Given the description of an element on the screen output the (x, y) to click on. 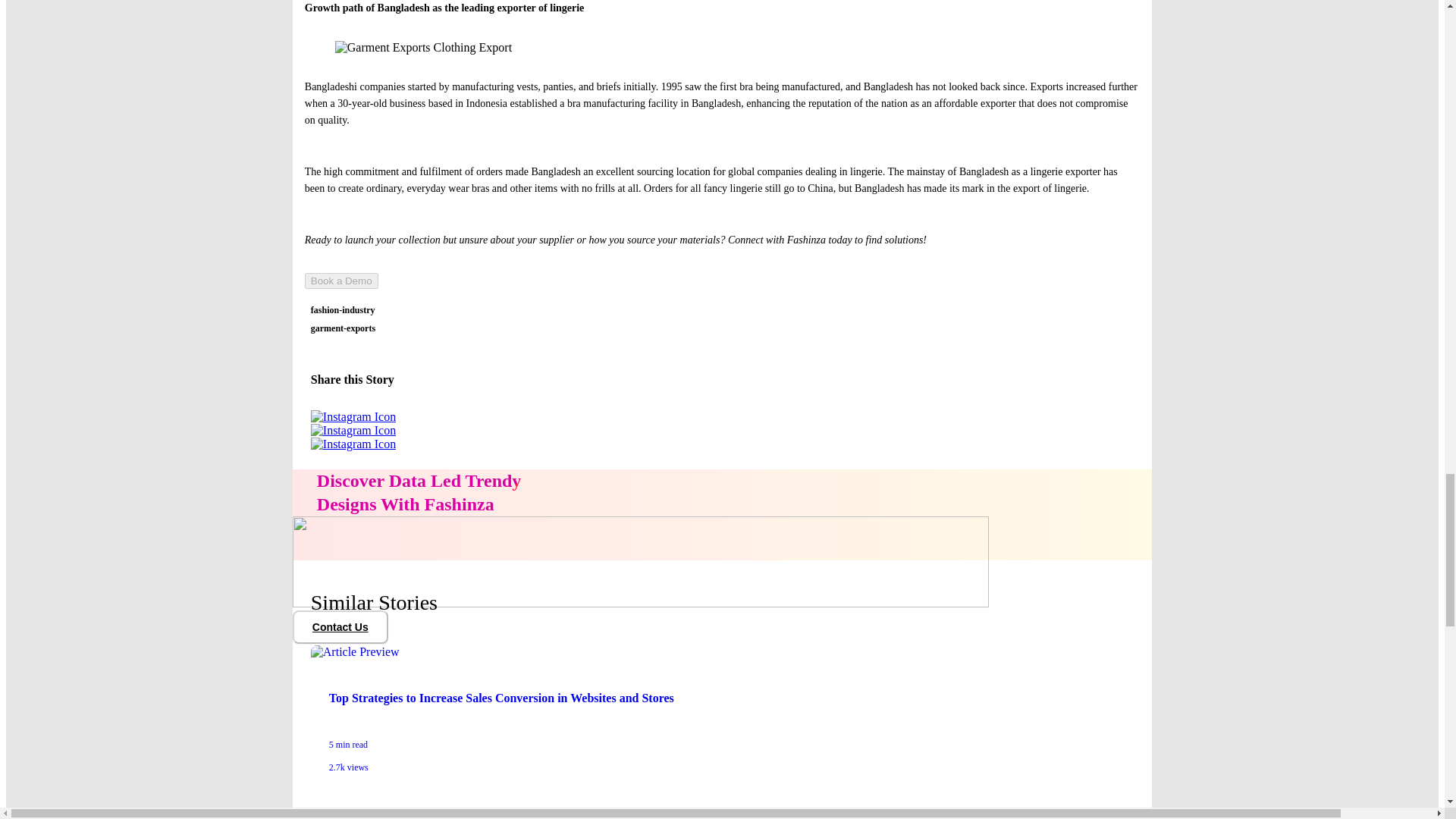
Contact Us (340, 626)
Book a Demo (341, 280)
Contact Us (340, 626)
